Given the description of an element on the screen output the (x, y) to click on. 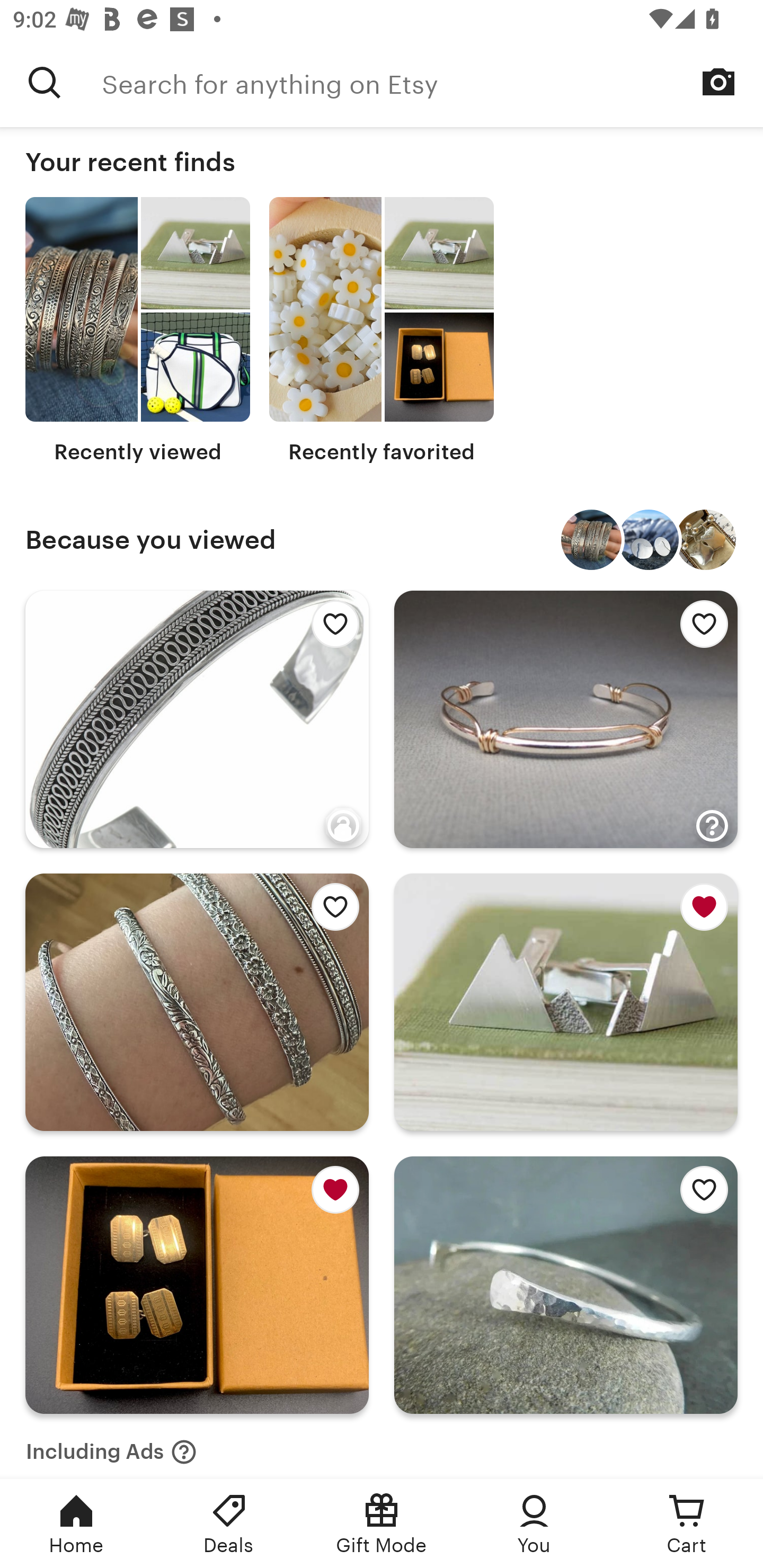
Search for anything on Etsy (44, 82)
Search by image (718, 81)
Search for anything on Etsy (432, 82)
Recently viewed (137, 330)
Recently favorited (381, 330)
Including Ads (111, 1446)
Deals (228, 1523)
Gift Mode (381, 1523)
You (533, 1523)
Cart (686, 1523)
